Given the description of an element on the screen output the (x, y) to click on. 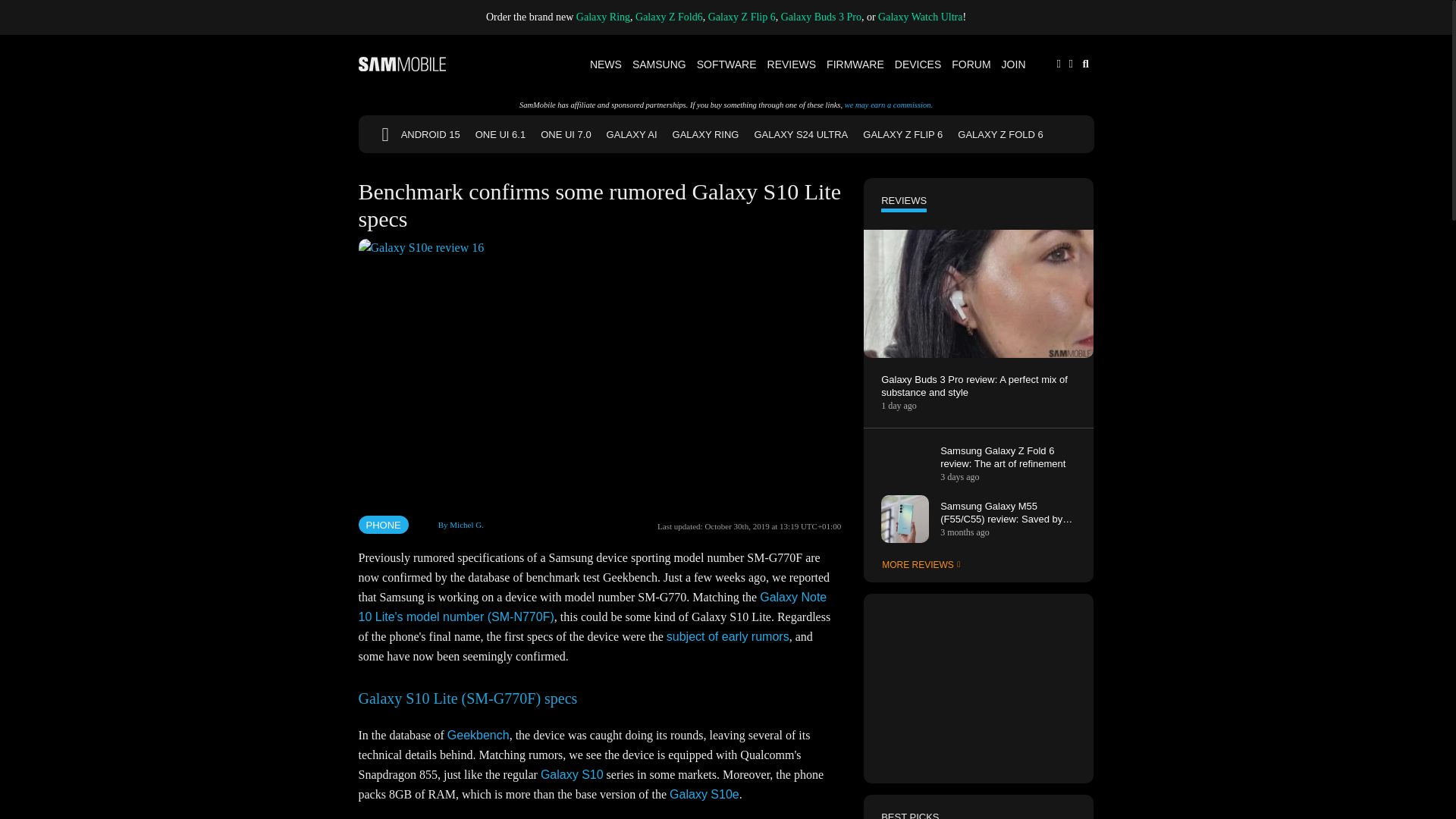
Galaxy Ring (603, 16)
SAMSUNG (659, 64)
Galaxy Z Fold6 (668, 16)
Galaxy Z Flip 6 (741, 16)
Galaxy Watch Ultra (919, 16)
Samsung (659, 64)
SamMobile logo (401, 63)
Galaxy Buds 3 Pro (820, 16)
